Given the description of an element on the screen output the (x, y) to click on. 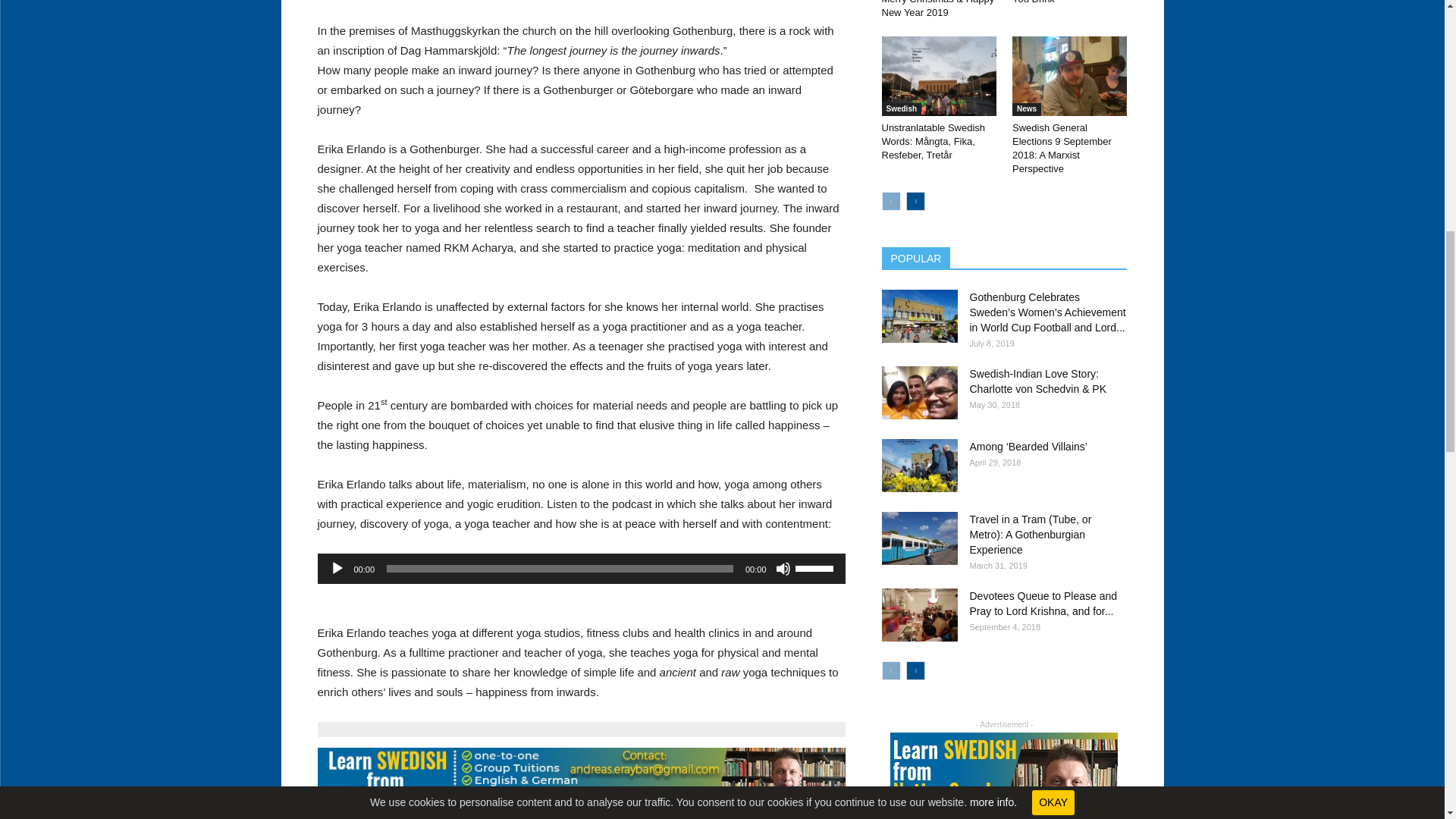
Mute (782, 568)
Play (336, 568)
